Given the description of an element on the screen output the (x, y) to click on. 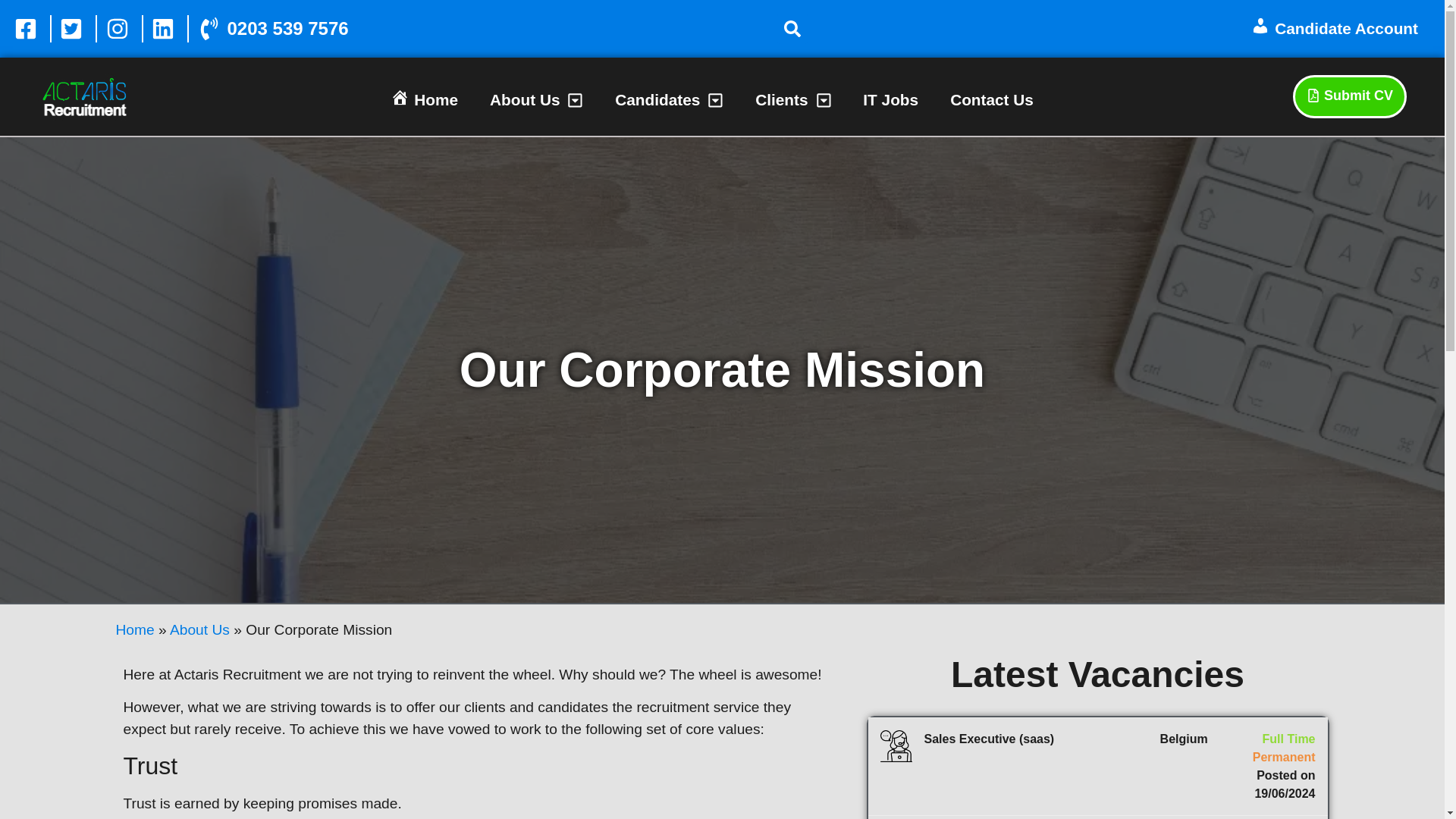
About Us (536, 99)
Candidate Account (1334, 28)
Contact Us (991, 99)
IT Jobs (890, 99)
Clients (792, 99)
Home (424, 99)
Candidates (668, 99)
0203 539 7576 (272, 28)
